Given the description of an element on the screen output the (x, y) to click on. 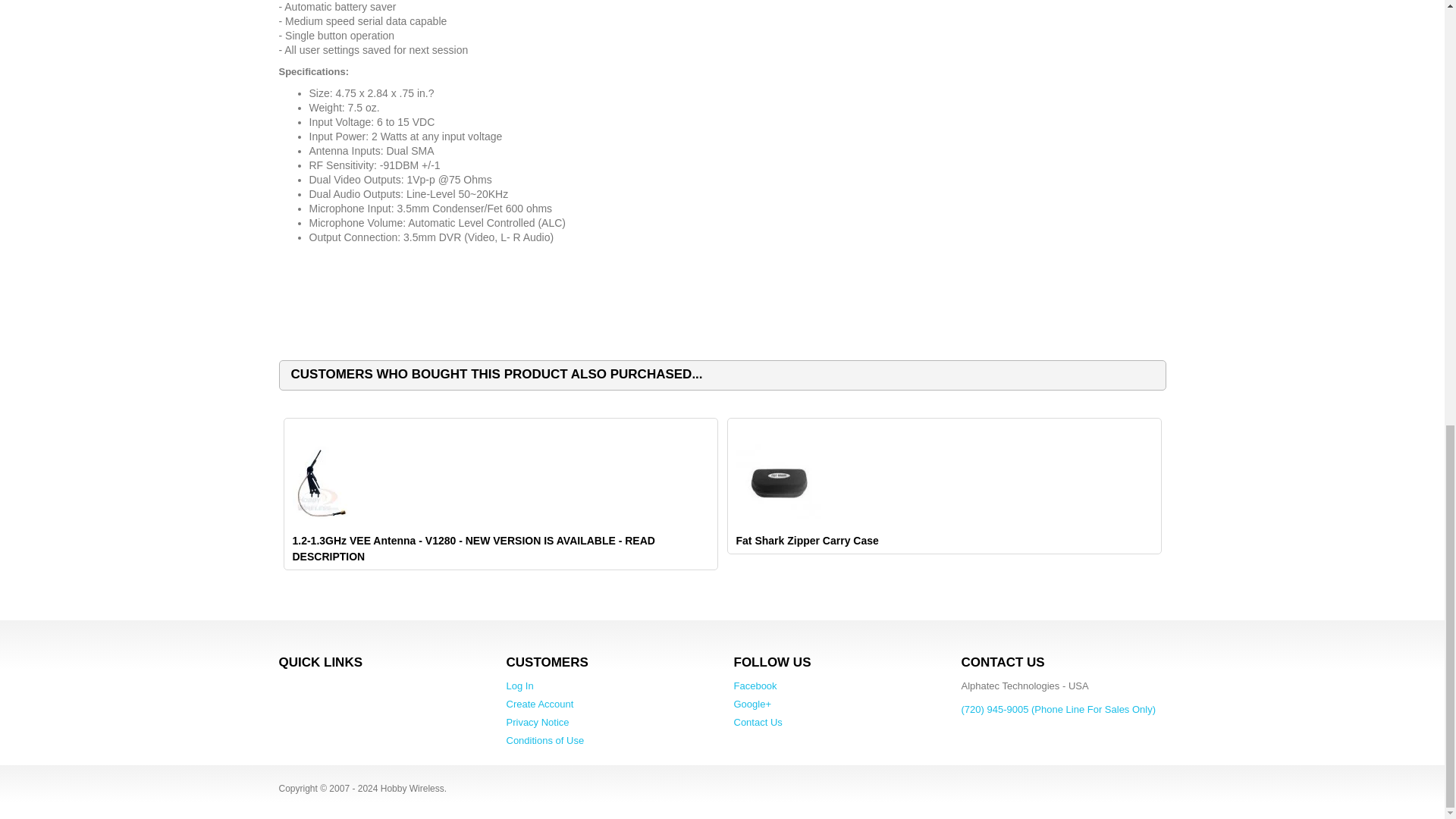
 Fat Shark Zipper Carry Case  (777, 481)
